Given the description of an element on the screen output the (x, y) to click on. 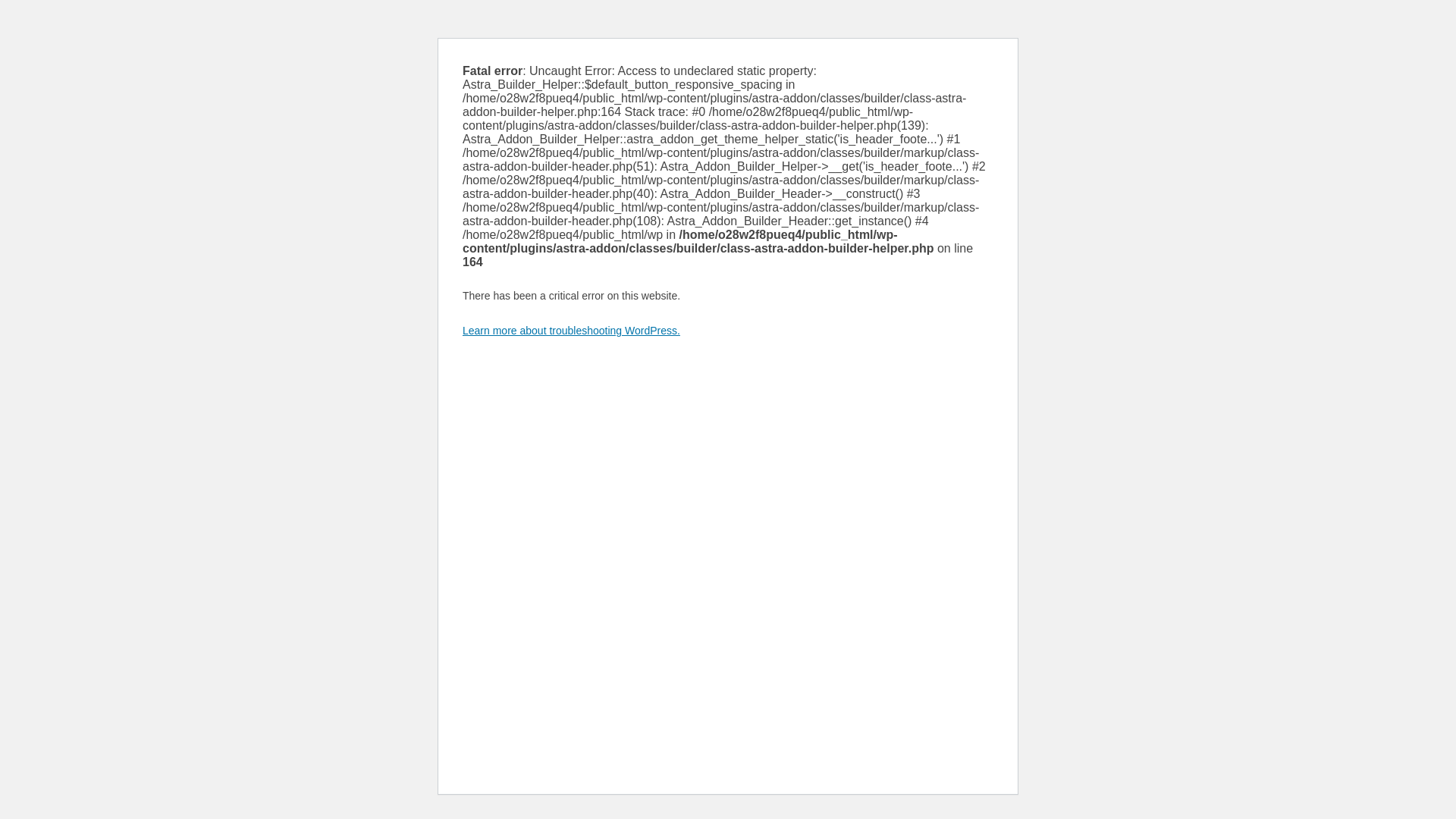
Learn more about troubleshooting WordPress. Element type: text (571, 330)
